Given the description of an element on the screen output the (x, y) to click on. 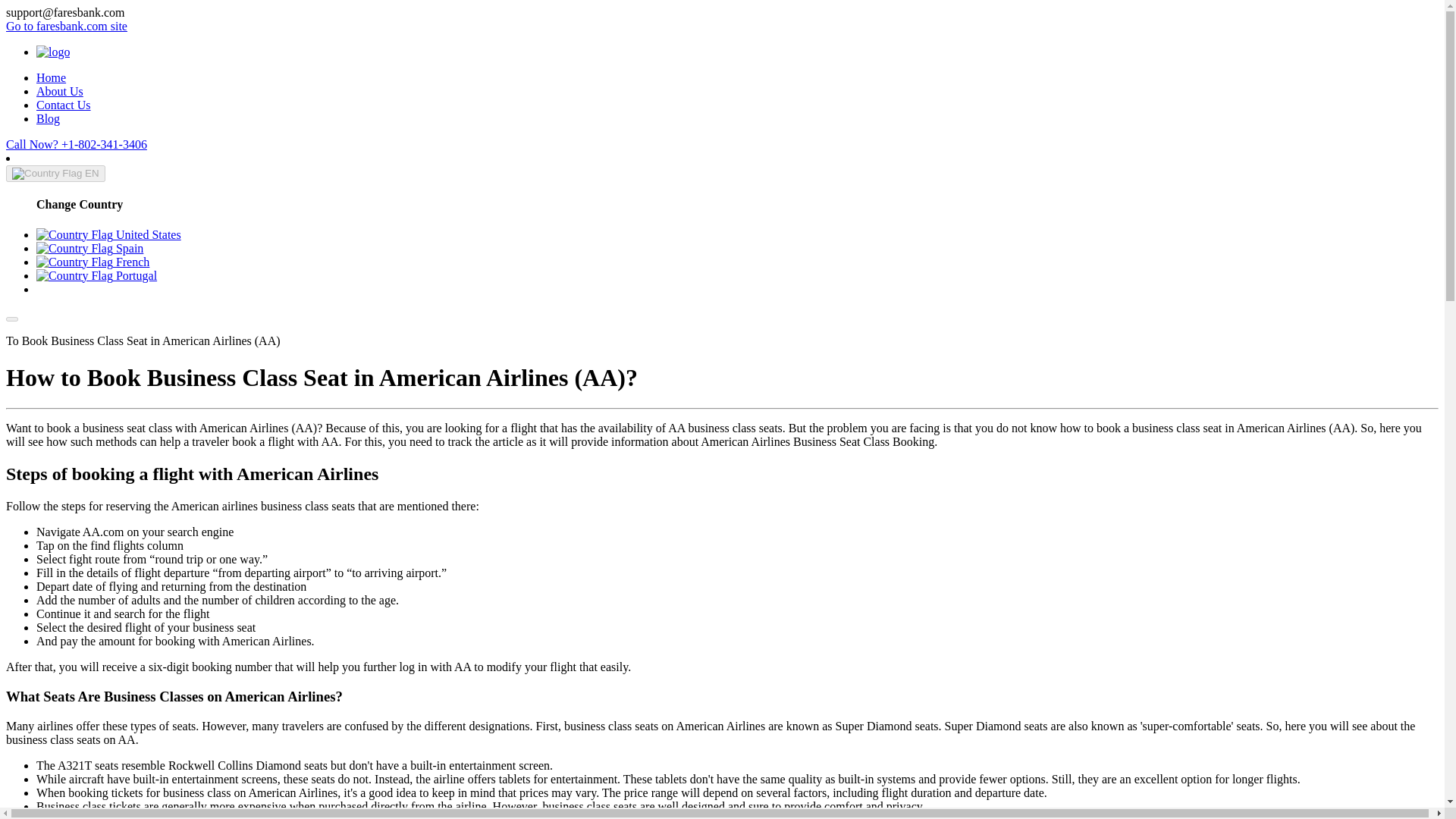
Home (50, 77)
French (92, 261)
About Us (59, 91)
EN (54, 173)
Spain (89, 247)
United States (108, 234)
Contact Us (63, 104)
Go to faresbank.com site (66, 25)
Portugal (96, 275)
Blog (47, 118)
